Given the description of an element on the screen output the (x, y) to click on. 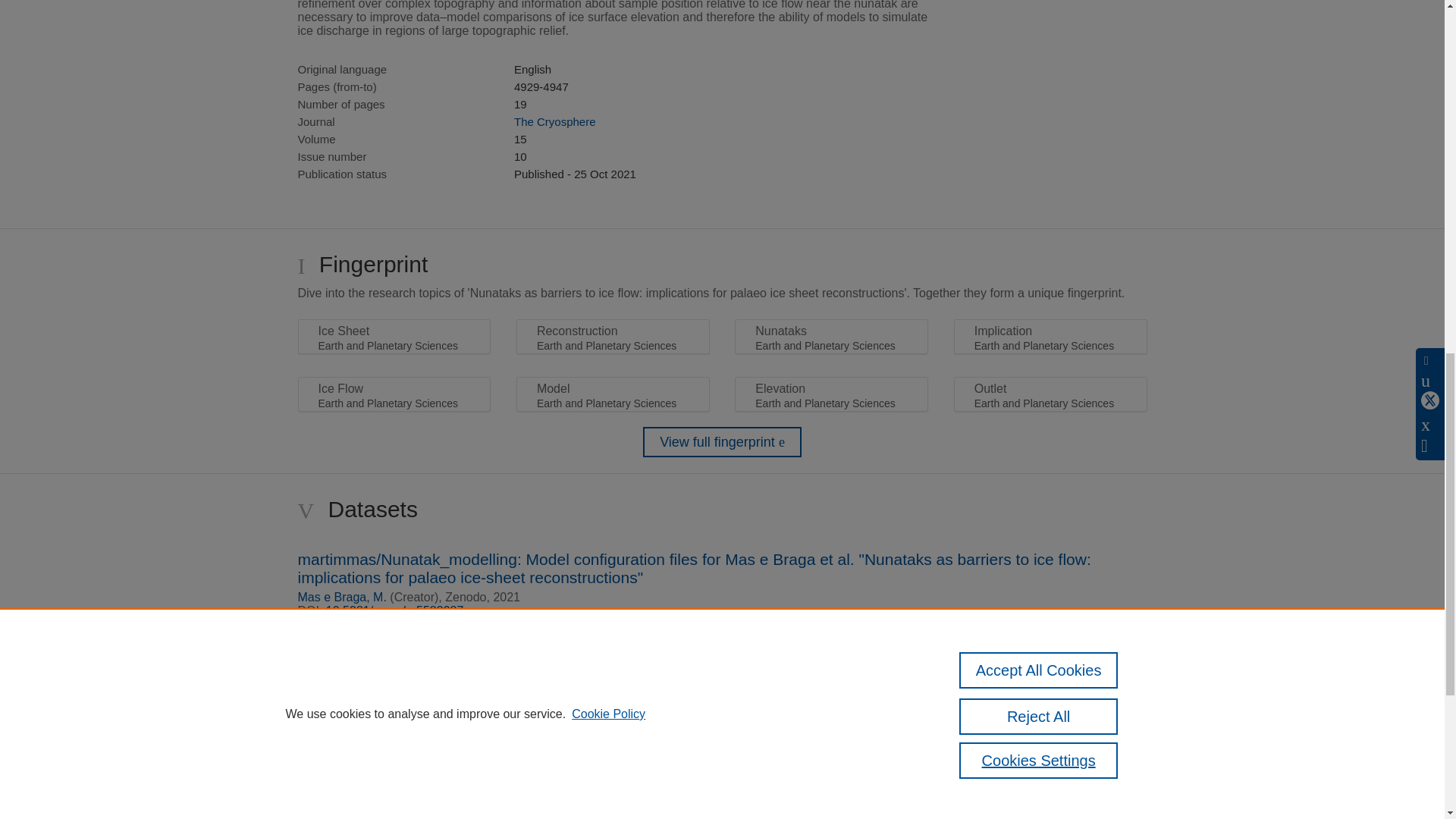
Mas e Braga, M. (341, 596)
The Cryosphere (554, 121)
View full fingerprint (722, 441)
